Given the description of an element on the screen output the (x, y) to click on. 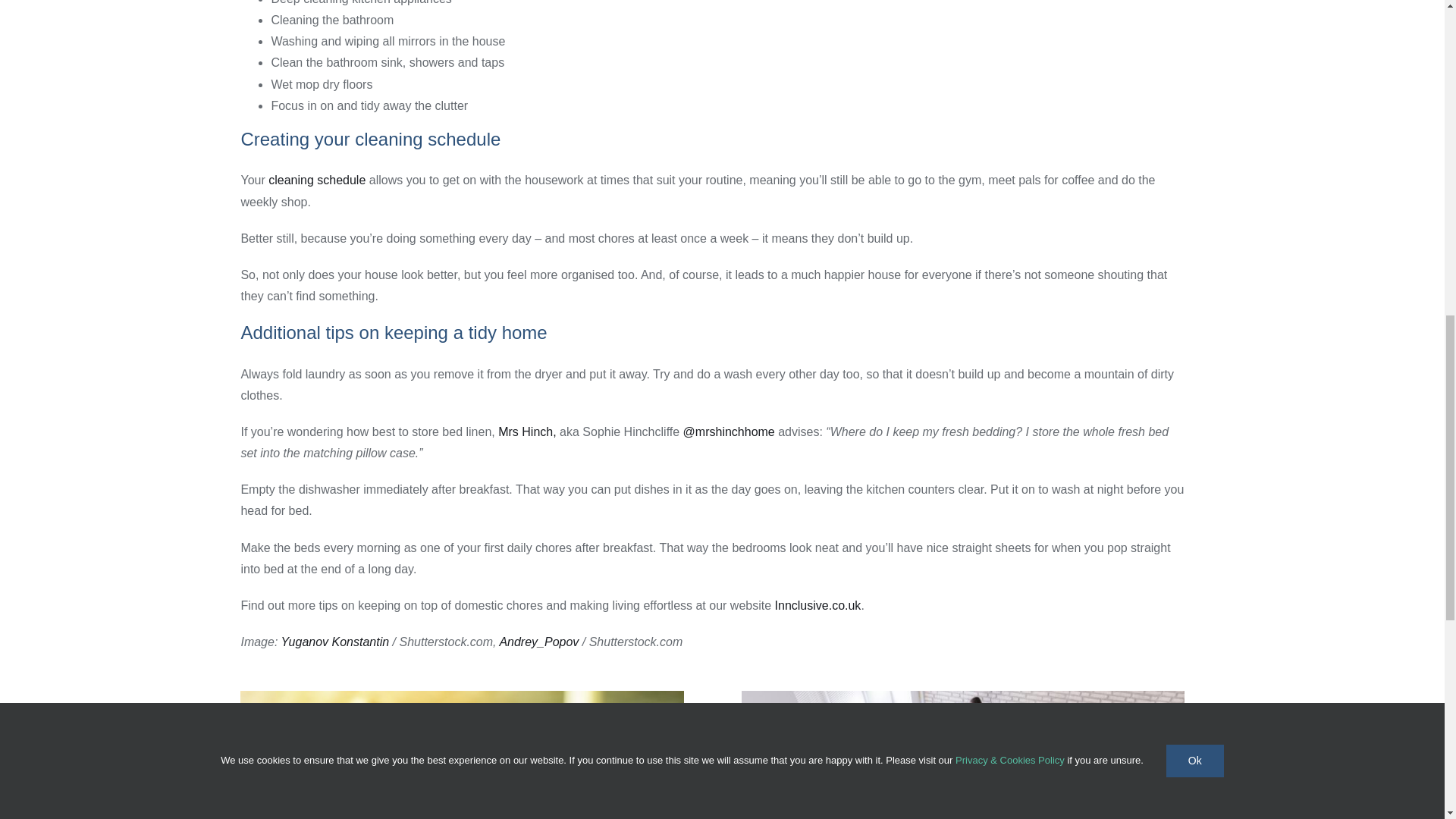
Cleaning items (461, 755)
Cleaning in action (963, 755)
